Given the description of an element on the screen output the (x, y) to click on. 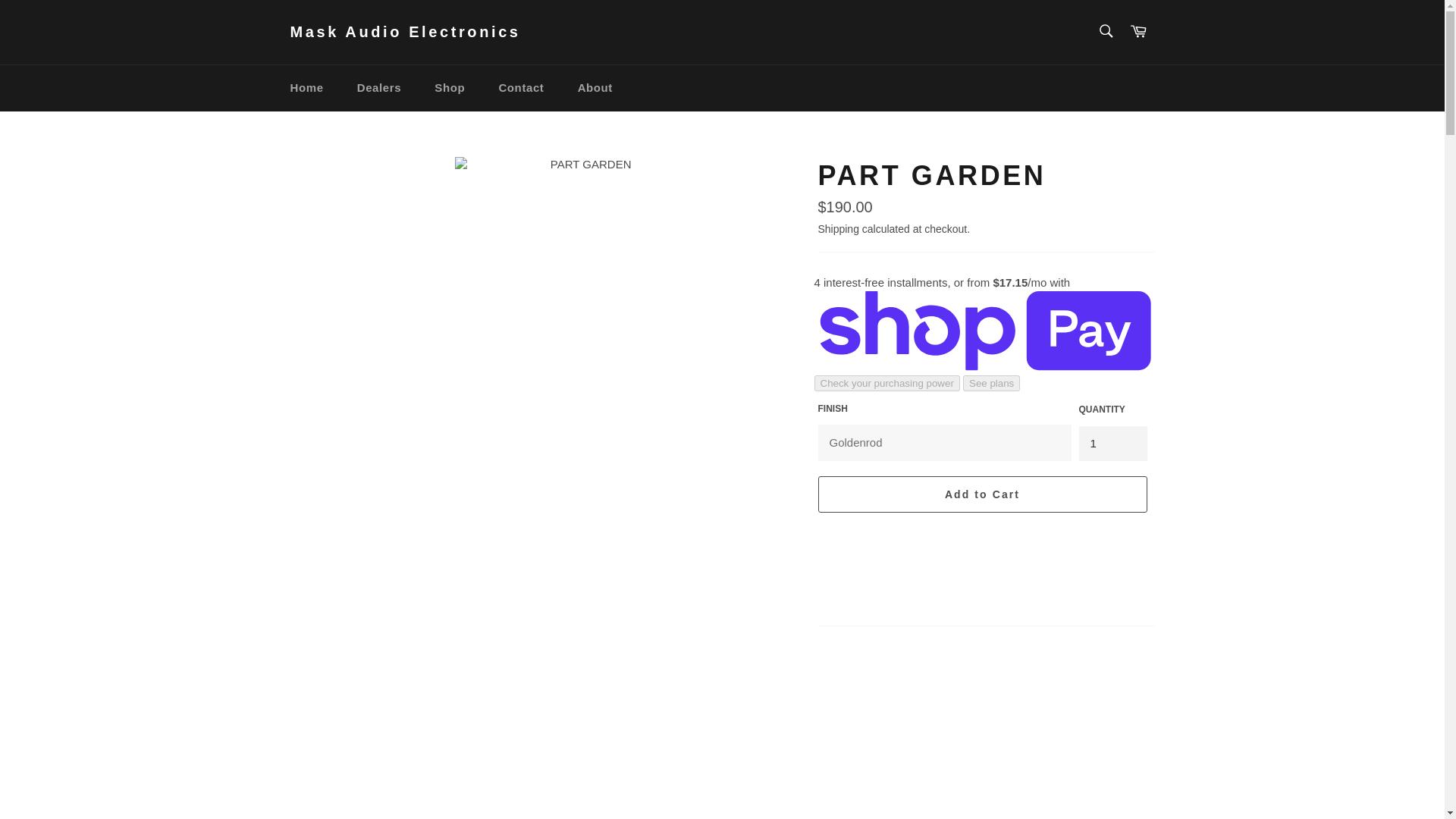
Cart (1138, 32)
Dealers (379, 88)
Search (1104, 30)
Mask Audio Electronics (404, 32)
Home (306, 88)
Shipping (837, 228)
1 (1112, 443)
About (594, 88)
Add to Cart (981, 493)
Shop (449, 88)
Contact (521, 88)
